Given the description of an element on the screen output the (x, y) to click on. 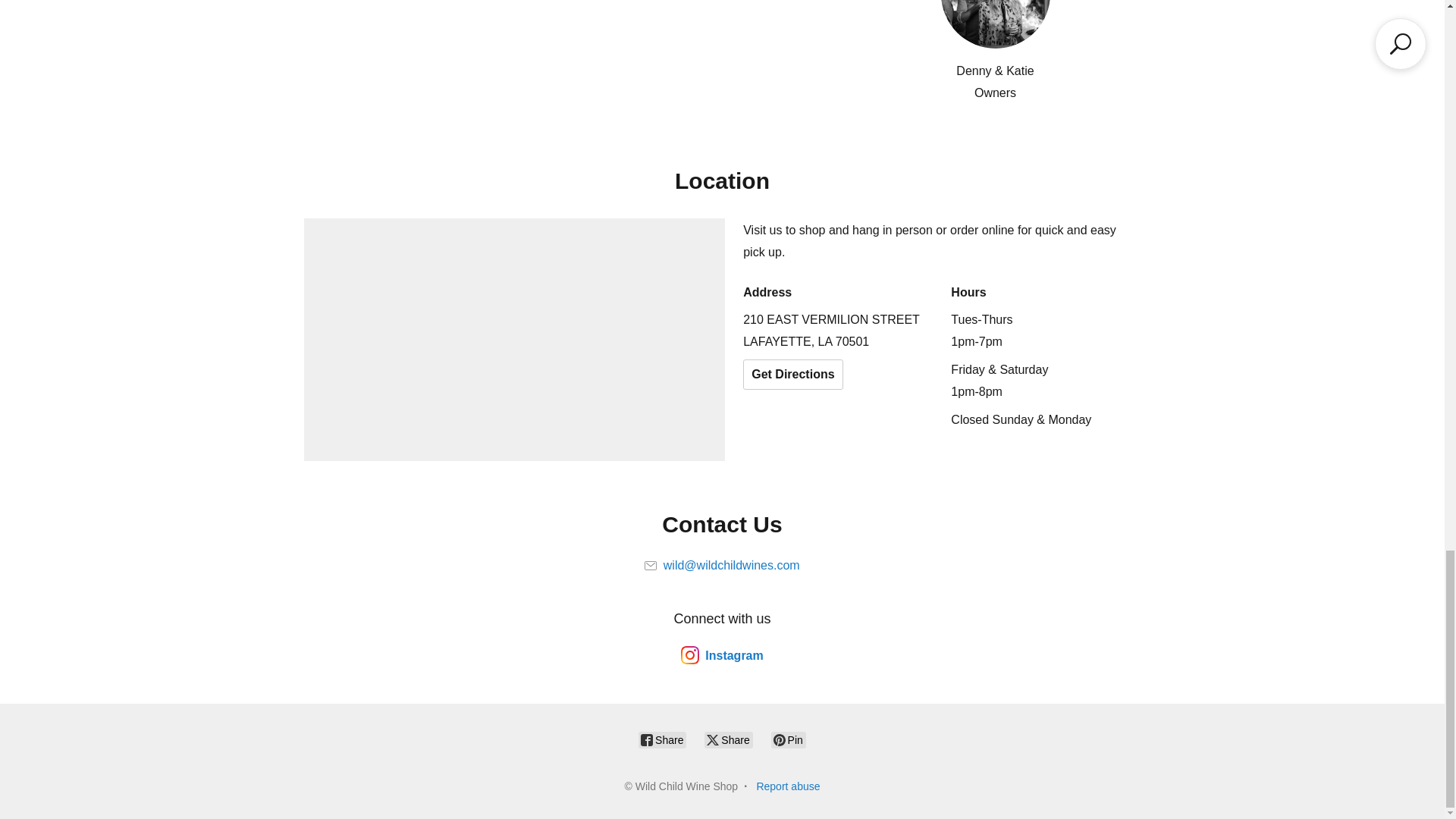
Location on map (513, 339)
